Given the description of an element on the screen output the (x, y) to click on. 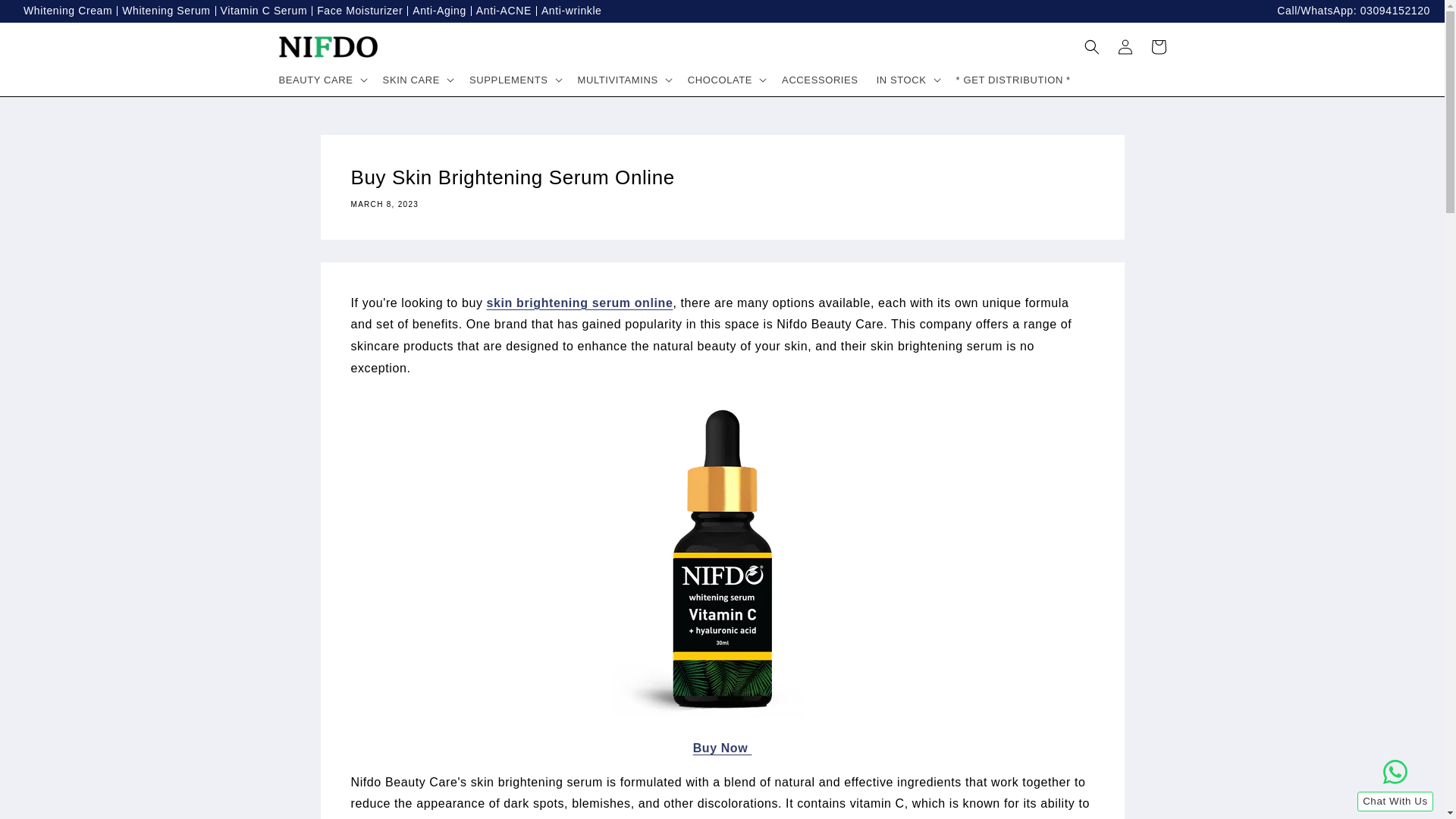
Anti-ACNE (500, 10)
Anti-wrinkle (568, 10)
Whitening Cream (65, 10)
Whitening Serum (162, 10)
Anti-Aging (436, 10)
Skip to content (45, 17)
Vitamin C Serum (261, 10)
Face Moisturizer (357, 10)
